Given the description of an element on the screen output the (x, y) to click on. 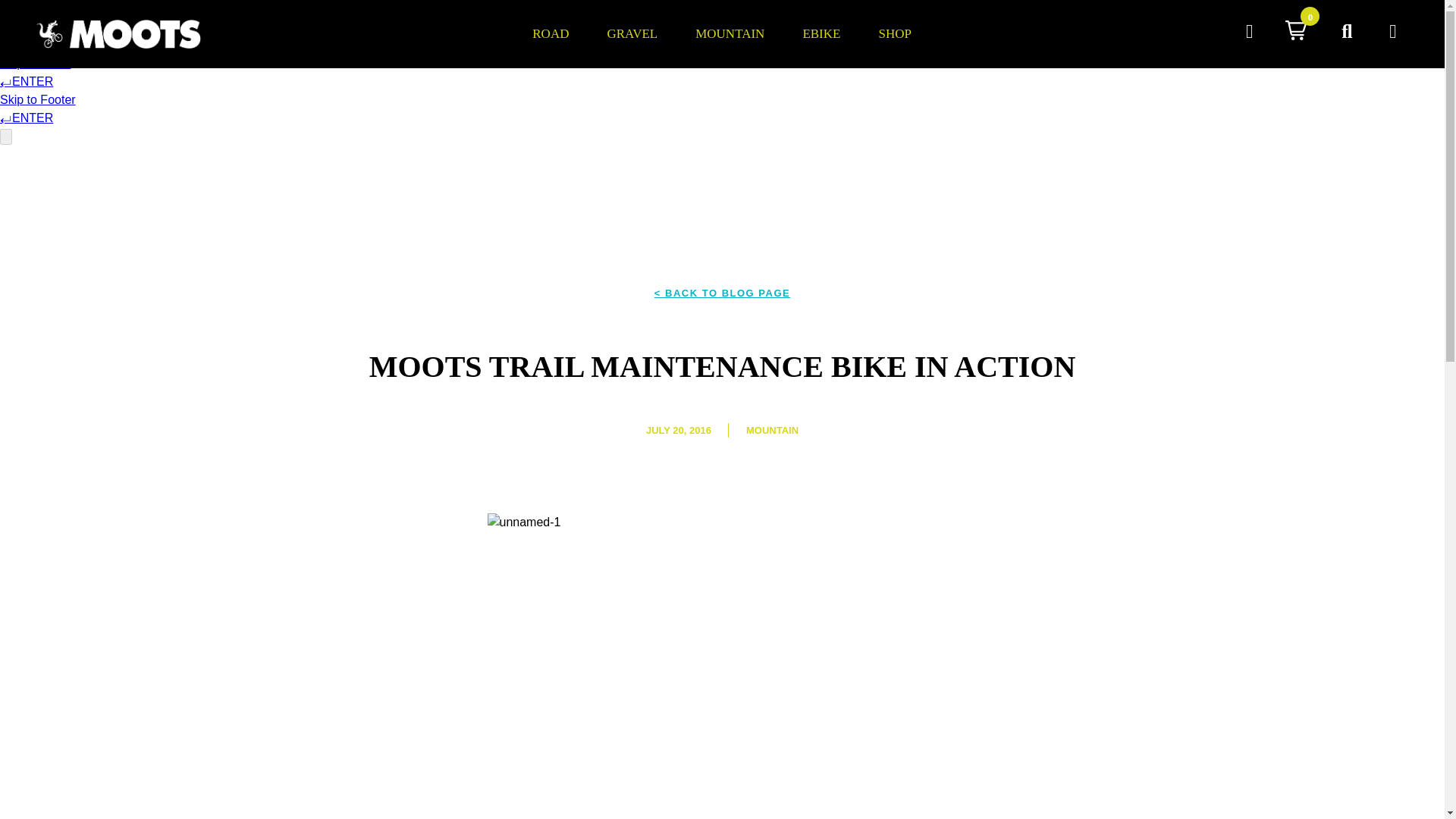
ROAD (550, 33)
GRAVEL (631, 33)
